Given the description of an element on the screen output the (x, y) to click on. 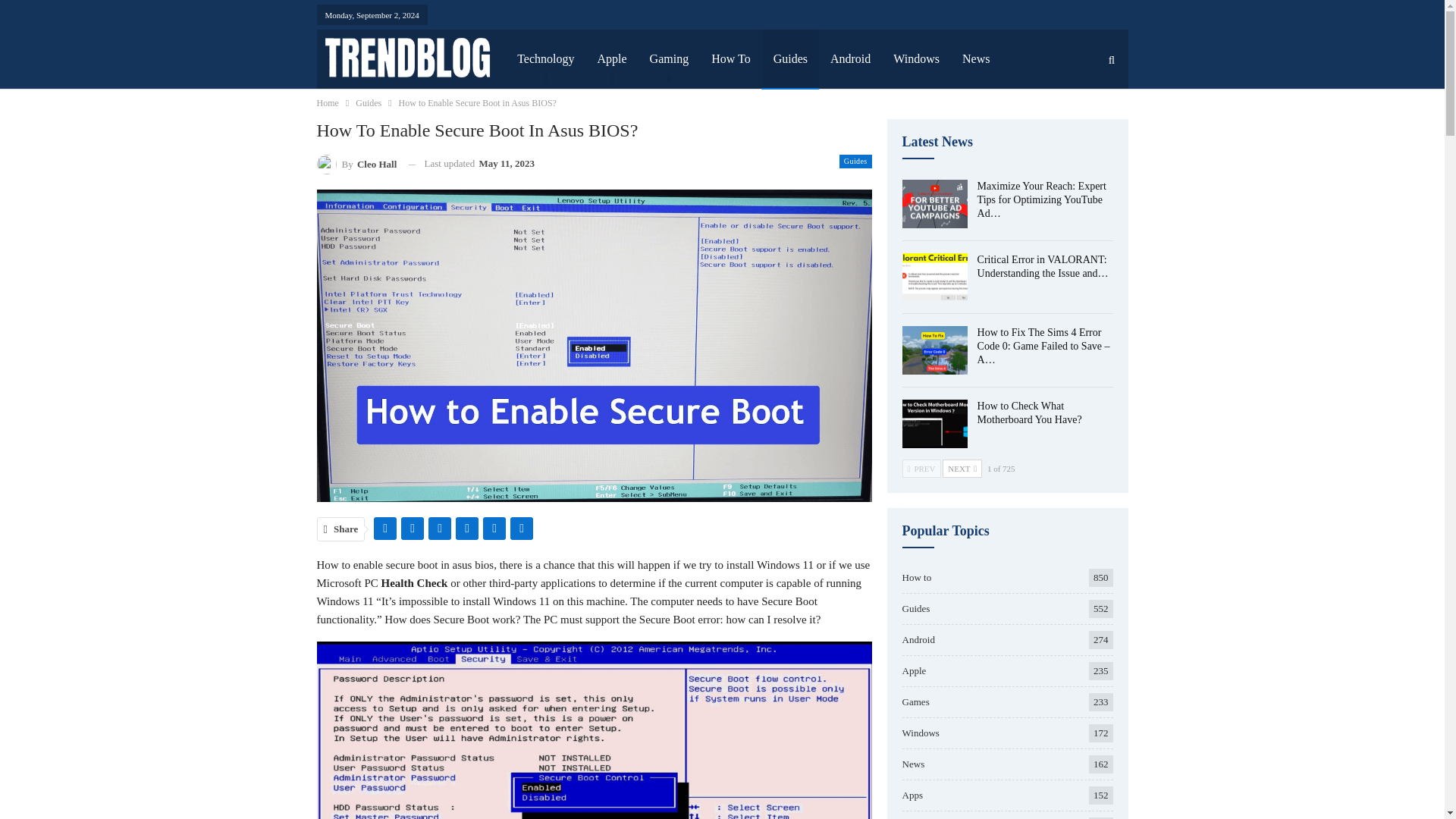
Browse Author Articles (357, 163)
Guides (789, 58)
How To (730, 58)
Gaming (669, 58)
Guides (856, 161)
Home (328, 103)
Guides (368, 103)
By Cleo Hall (357, 163)
Windows (916, 58)
Android (850, 58)
